Given the description of an element on the screen output the (x, y) to click on. 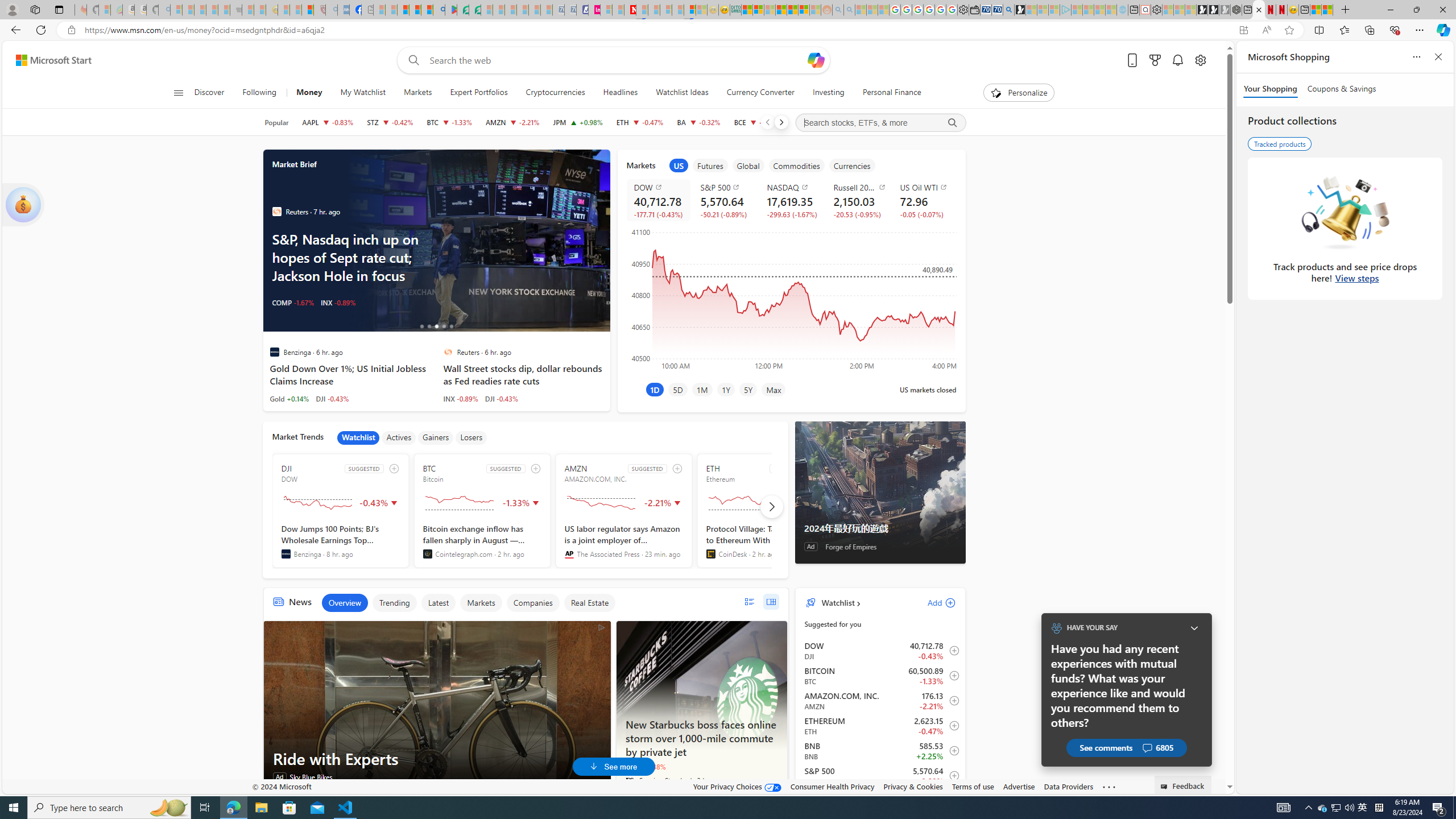
Companies (532, 602)
AMZN SUGGESTED AMAZON.COM, INC. (623, 510)
US Oil WTI (926, 187)
Markets (481, 602)
item1 (678, 164)
item4 (796, 164)
google - Search (438, 9)
Latest (437, 602)
list layout (749, 601)
Consumer Health Privacy (832, 786)
Expert Portfolios (478, 92)
